Given the description of an element on the screen output the (x, y) to click on. 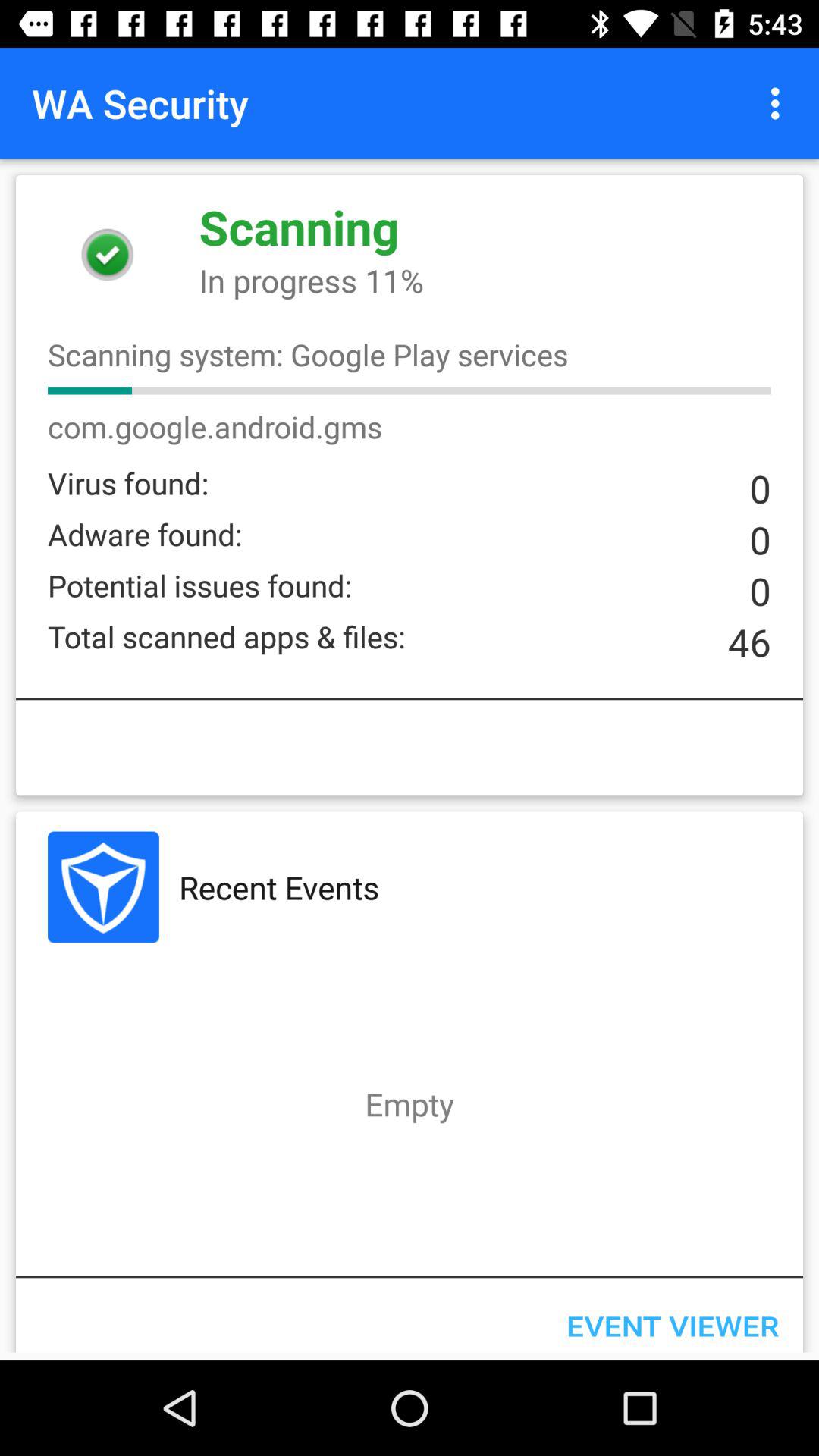
select icon next to the wa security (779, 103)
